Given the description of an element on the screen output the (x, y) to click on. 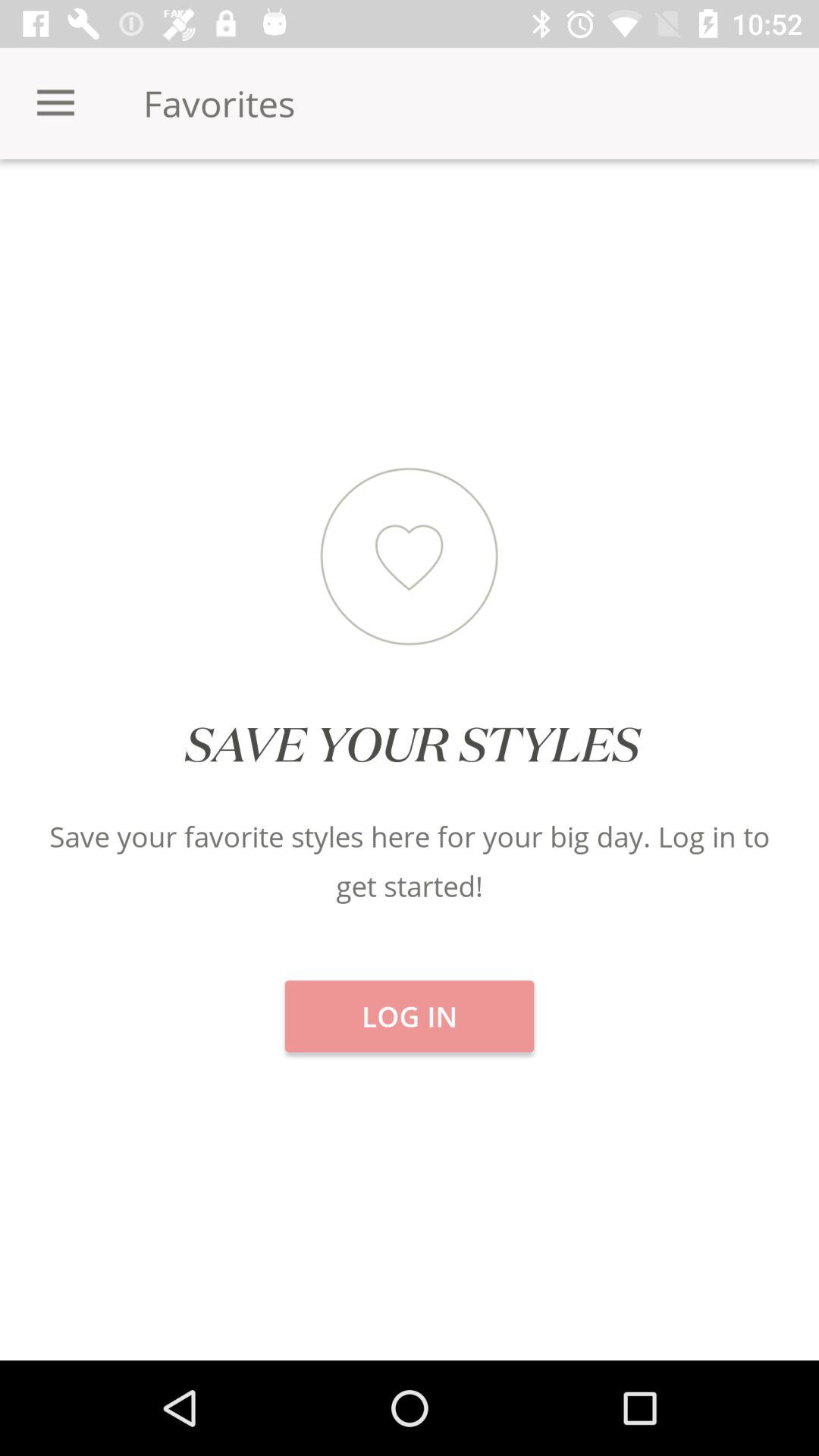
swipe to the featured item (409, 212)
